Given the description of an element on the screen output the (x, y) to click on. 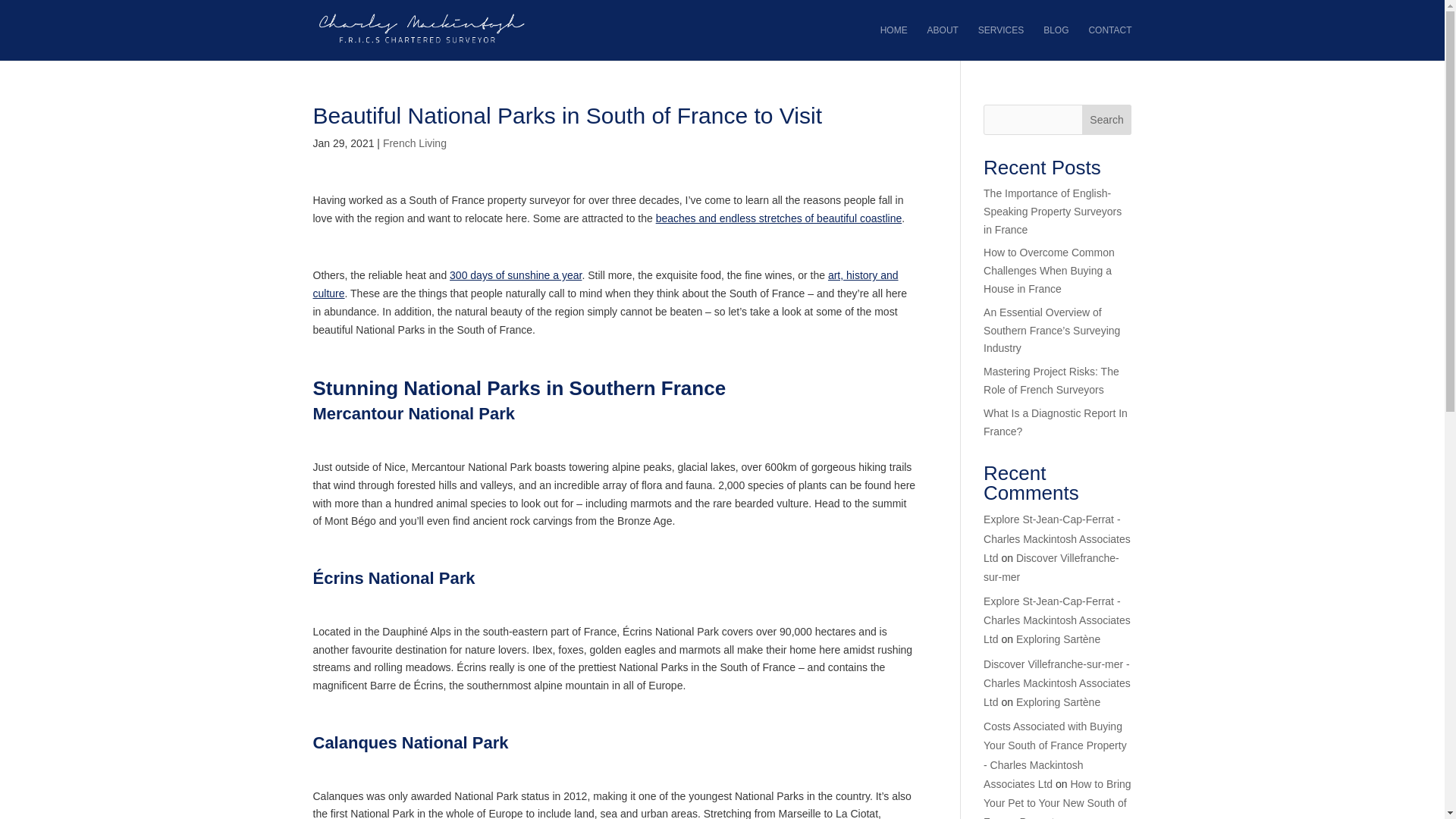
300 days of sunshine a year (514, 275)
What Is a Diagnostic Report In France? (1055, 422)
beaches and endless stretches of beautiful coastline (779, 218)
Discover Villefranche-sur-mer (1051, 567)
French Living (414, 143)
How to Bring Your Pet to Your New South of France Property (1057, 798)
CONTACT (1109, 42)
art, history and culture (605, 284)
Search (1106, 119)
Mastering Project Risks: The Role of French Surveyors (1051, 380)
